Given the description of an element on the screen output the (x, y) to click on. 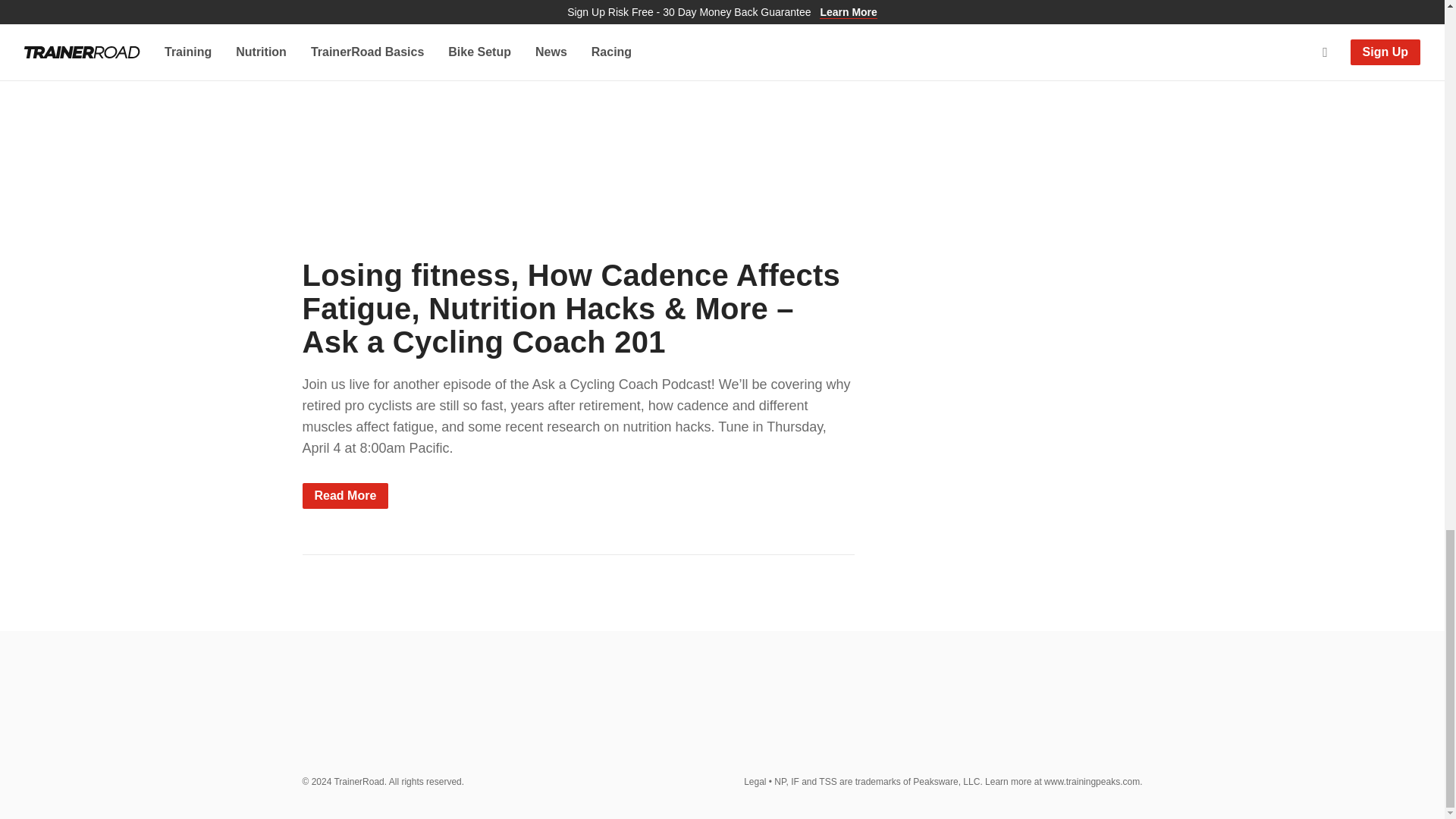
Read More (344, 495)
Follow TrainerRoad on Facebook (988, 717)
www.trainingpeaks.com (1091, 781)
Subscribe to TrainerRoad on YouTube (1057, 717)
Legal (754, 781)
